Given the description of an element on the screen output the (x, y) to click on. 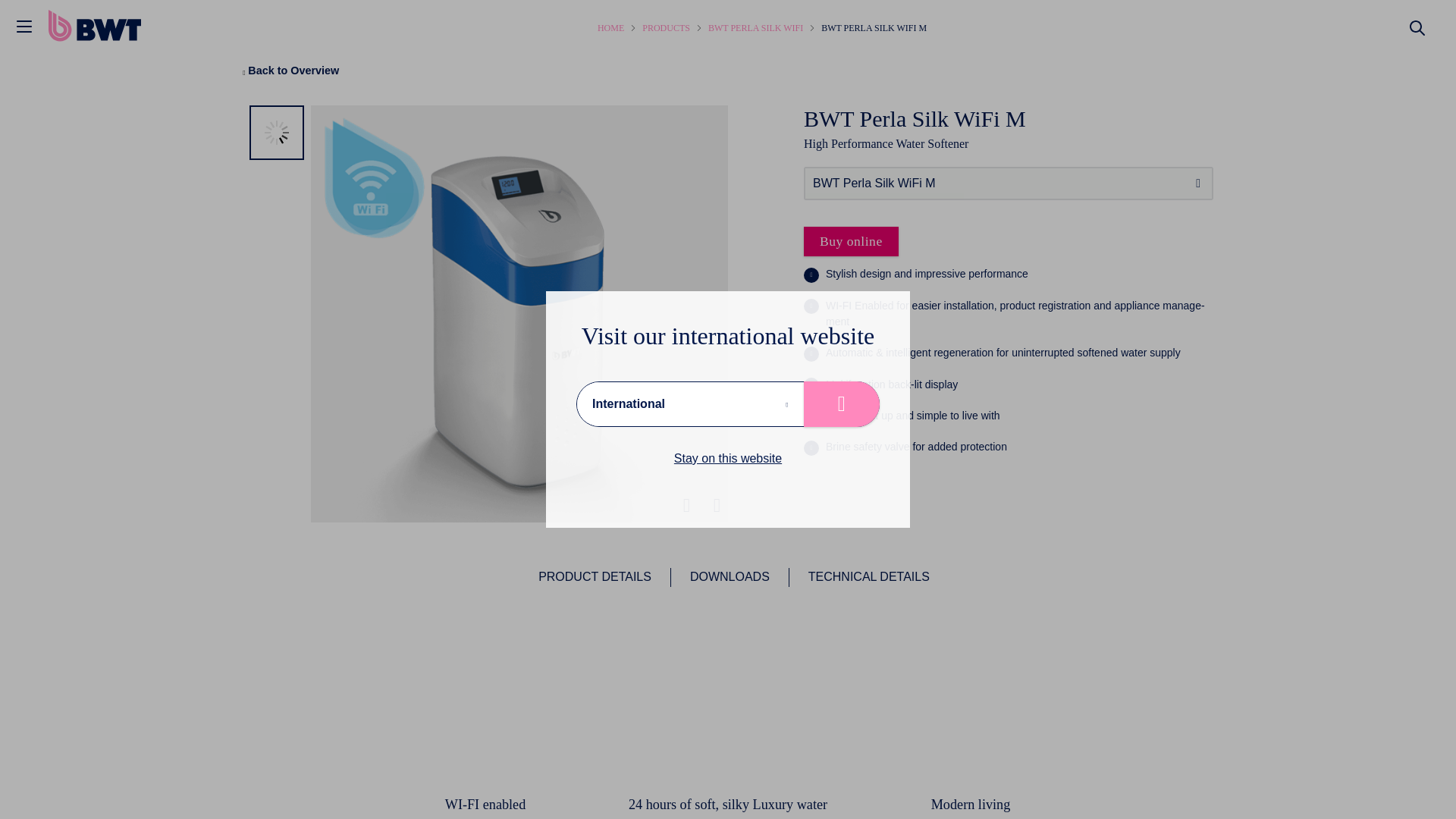
BWT PERLA SILK WIFI M (873, 28)
HOME (610, 28)
BWT PERLA SILK WIFI (755, 28)
